Given the description of an element on the screen output the (x, y) to click on. 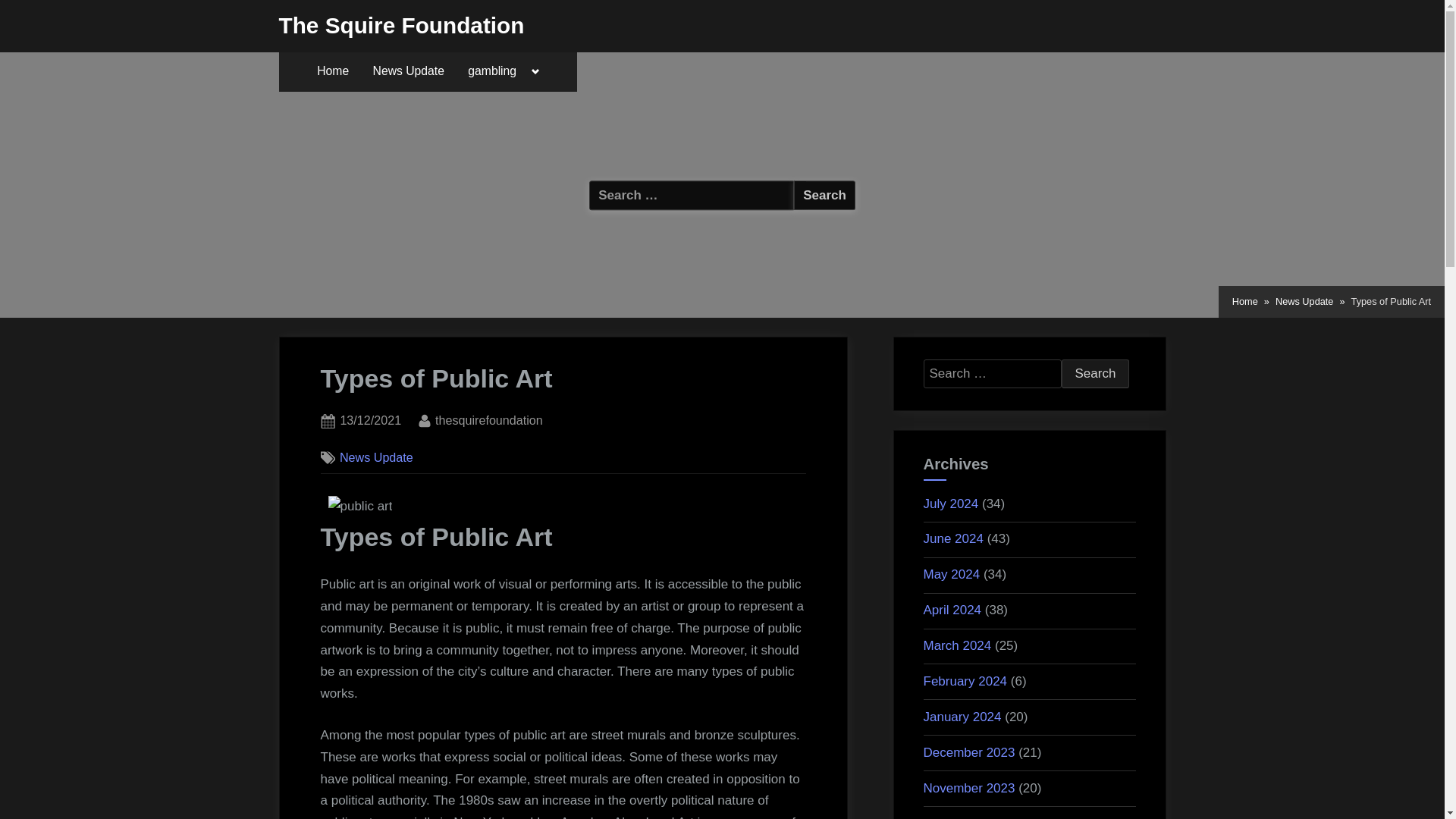
Home (332, 70)
Search (1095, 373)
October 2023 (962, 817)
gambling (492, 70)
January 2024 (962, 716)
News Update (408, 70)
May 2024 (951, 574)
July 2024 (950, 503)
Search (824, 194)
March 2024 (957, 645)
Search (824, 194)
June 2024 (953, 538)
The Squire Foundation (401, 25)
Search (1095, 373)
November 2023 (968, 788)
